Given the description of an element on the screen output the (x, y) to click on. 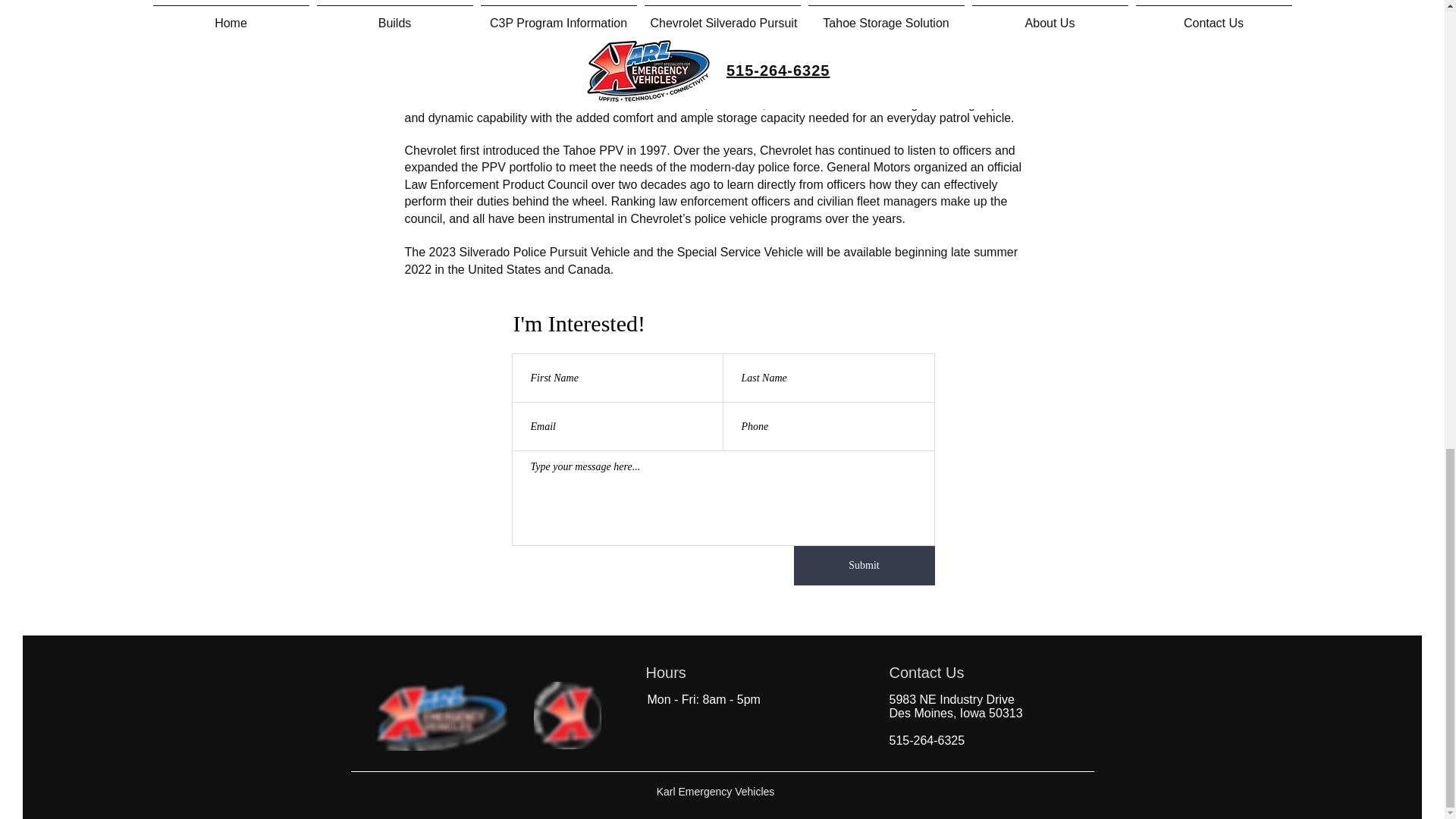
Submit (863, 565)
